Given the description of an element on the screen output the (x, y) to click on. 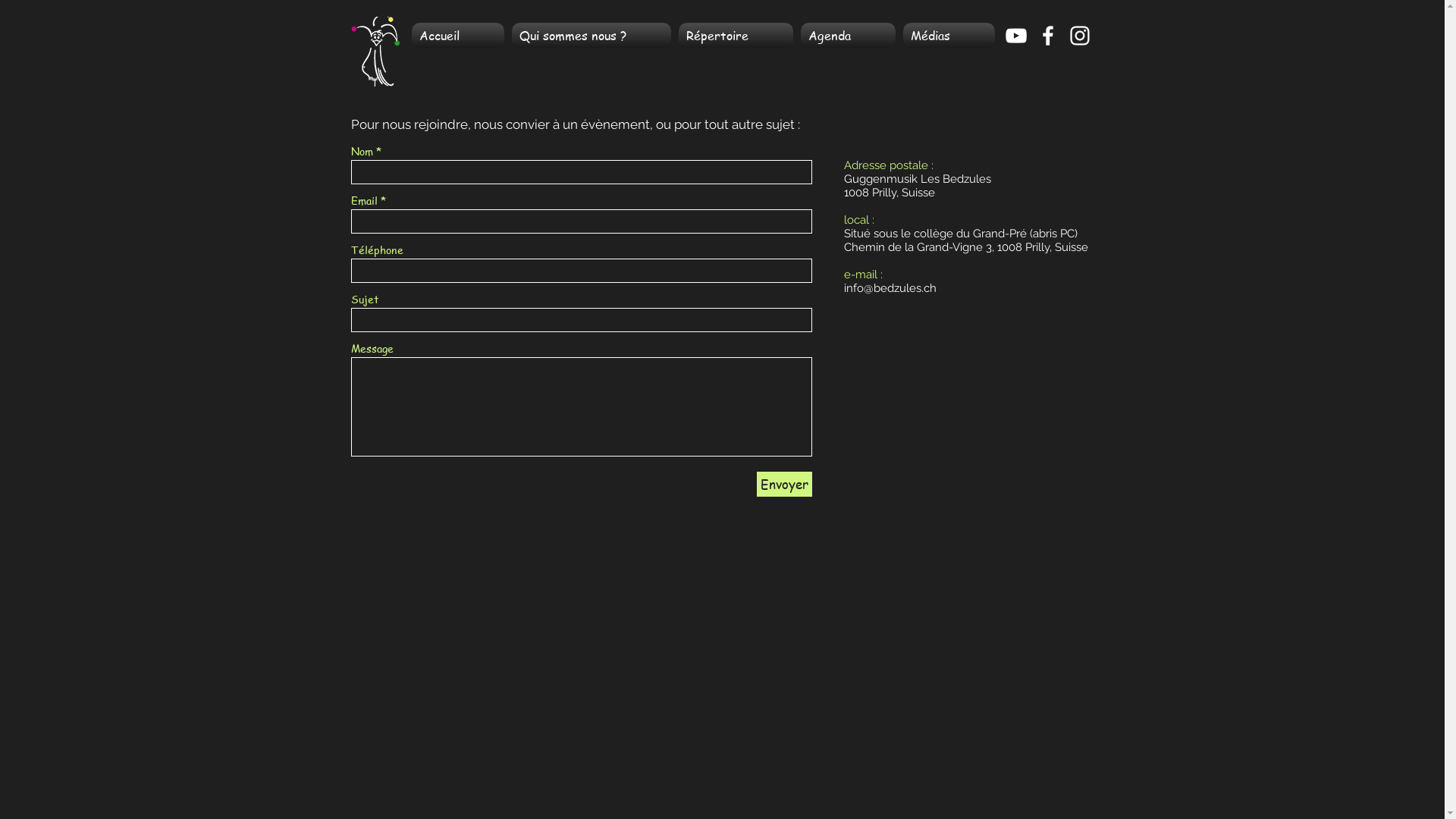
Google Maps Element type: hover (721, 628)
info@bedzules.ch Element type: text (889, 287)
Accueil Element type: text (459, 35)
Agenda Element type: text (847, 35)
Envoyer Element type: text (784, 483)
